Given the description of an element on the screen output the (x, y) to click on. 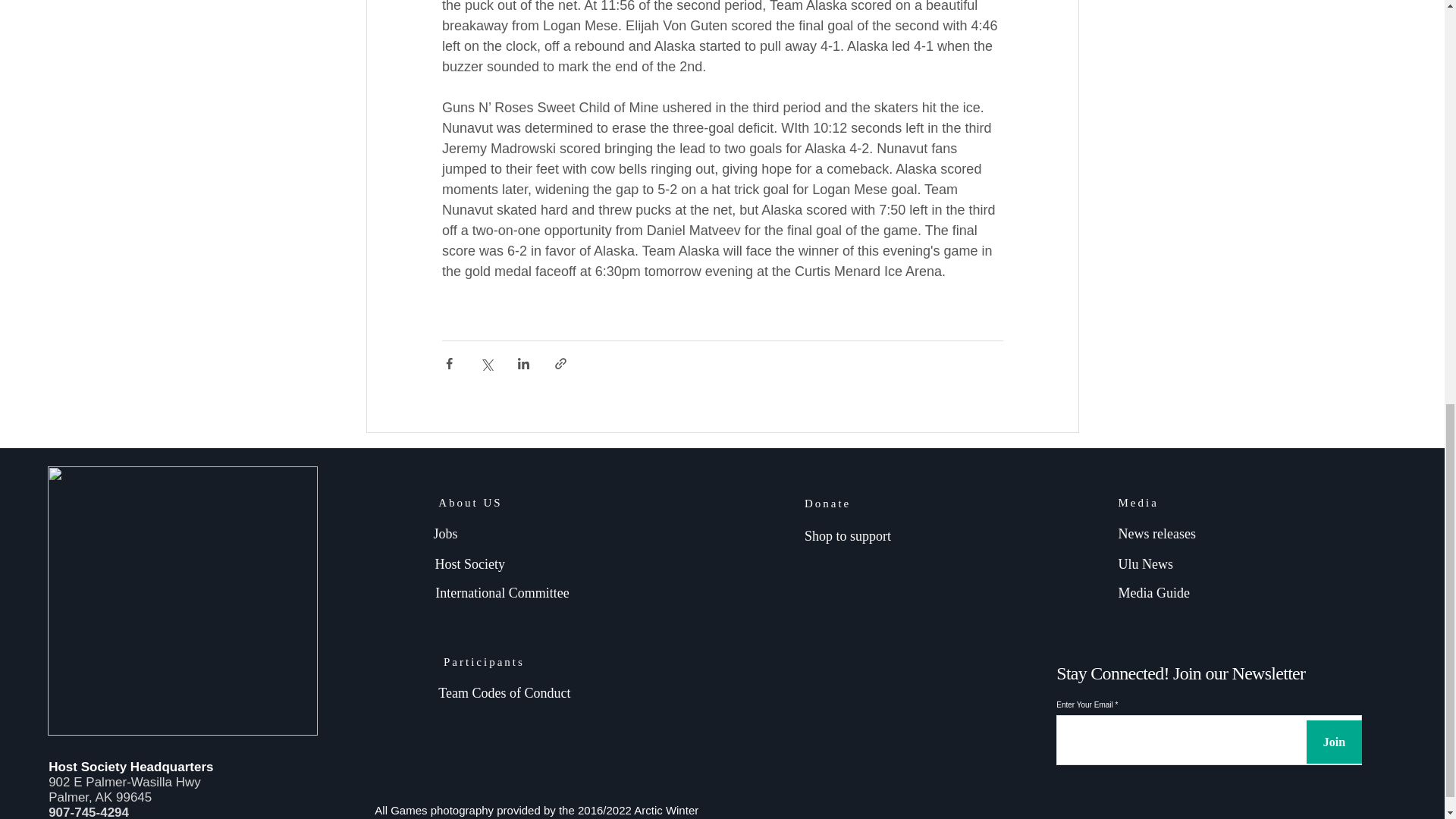
Host Society (470, 563)
Donate (827, 503)
Shop to support (848, 535)
Jobs (444, 533)
Join (1333, 741)
Team Codes of Conduct (504, 693)
International Committee  (503, 592)
